Given the description of an element on the screen output the (x, y) to click on. 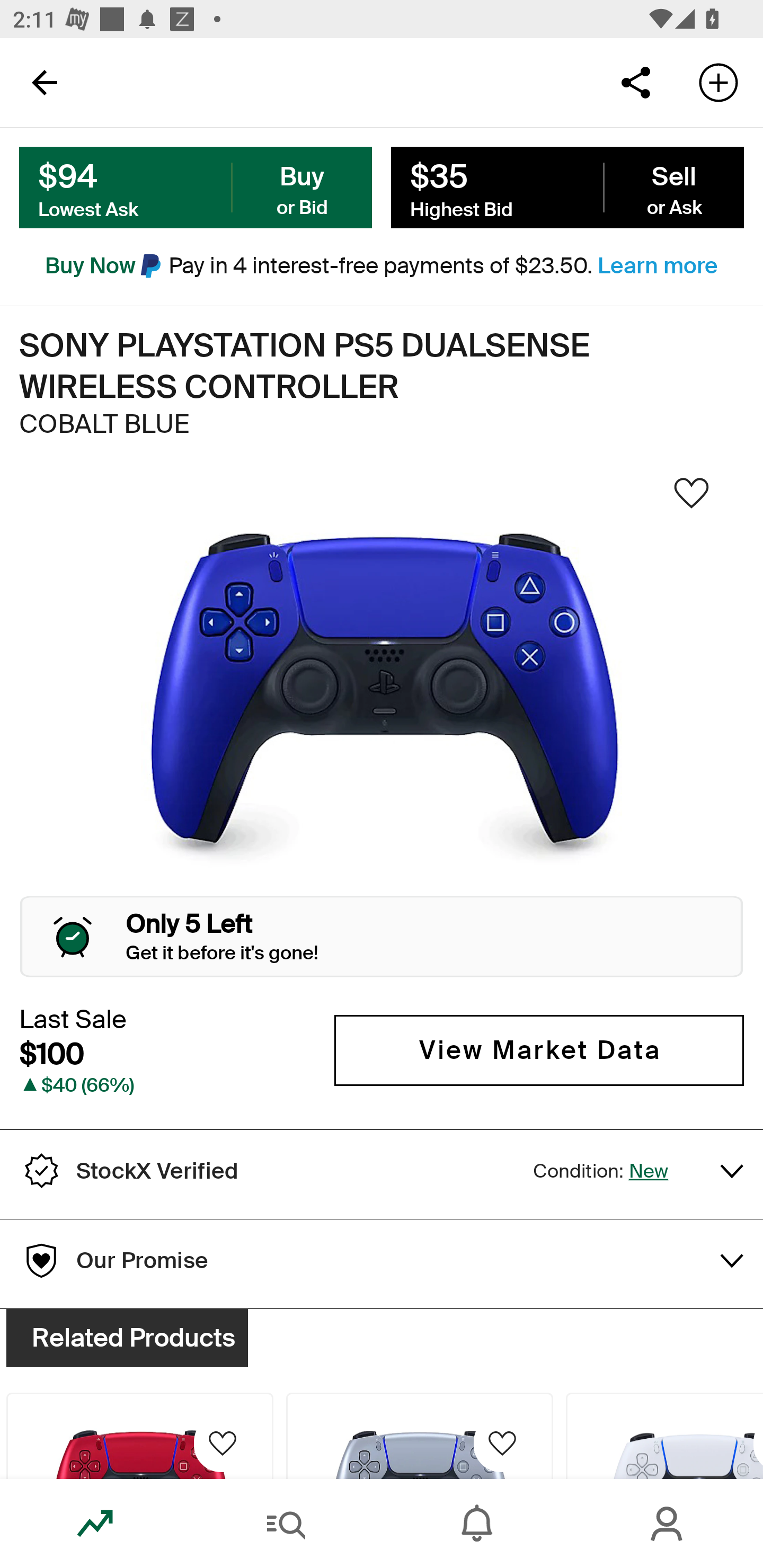
Share (635, 81)
Add (718, 81)
$233 Buy Lowest Ask or Bid (195, 187)
$219 Sell Highest Bid or Ask (566, 187)
Sneaker Image (381, 698)
View Market Data (538, 1050)
Search (285, 1523)
Inbox (476, 1523)
Account (667, 1523)
